Given the description of an element on the screen output the (x, y) to click on. 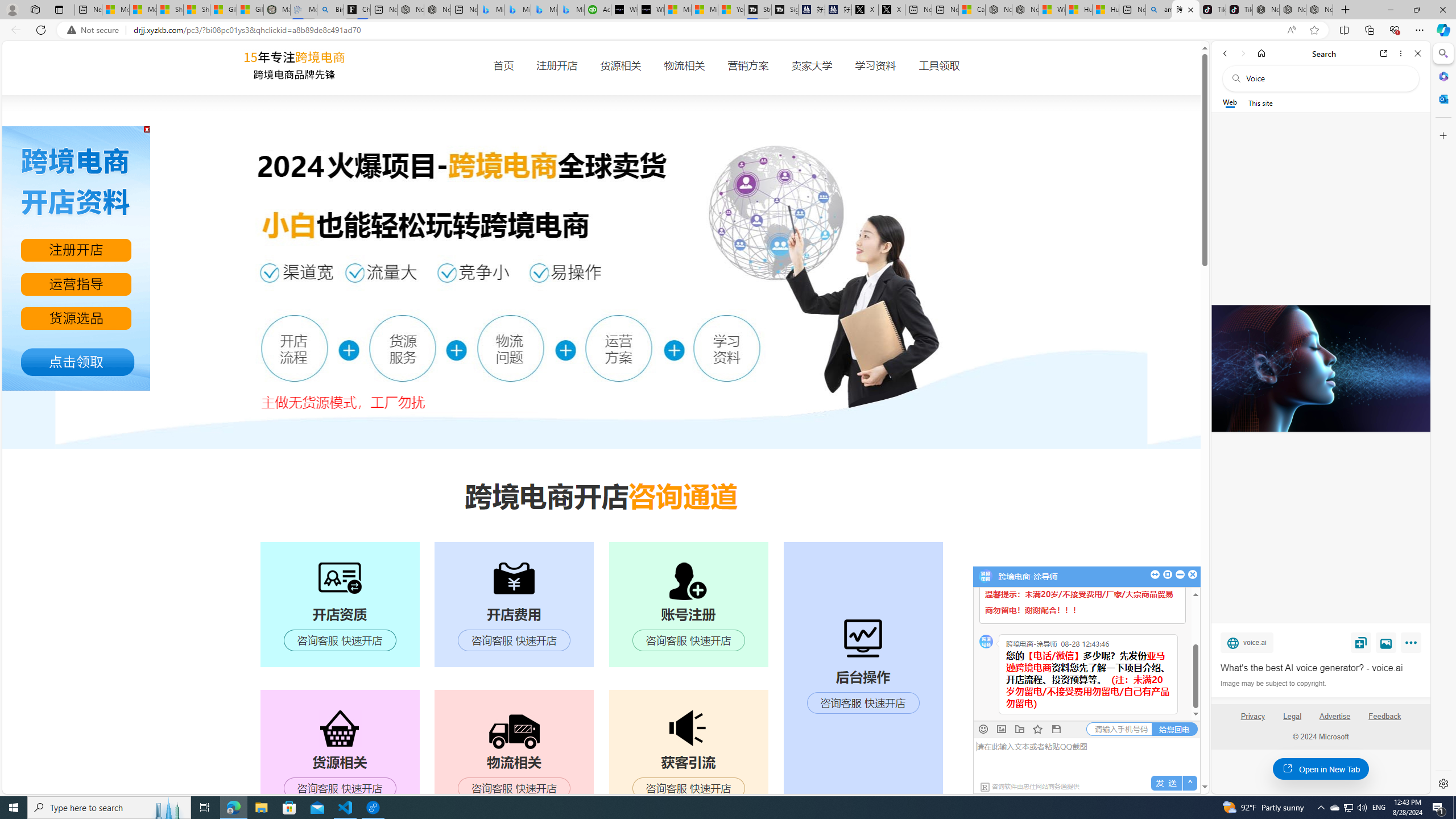
Search the web (1326, 78)
Customize (1442, 135)
TikTok (1239, 9)
Accounting Software for Accountants, CPAs and Bookkeepers (597, 9)
Image may be subject to copyright. (1273, 682)
Chloe Sorvino (357, 9)
